Given the description of an element on the screen output the (x, y) to click on. 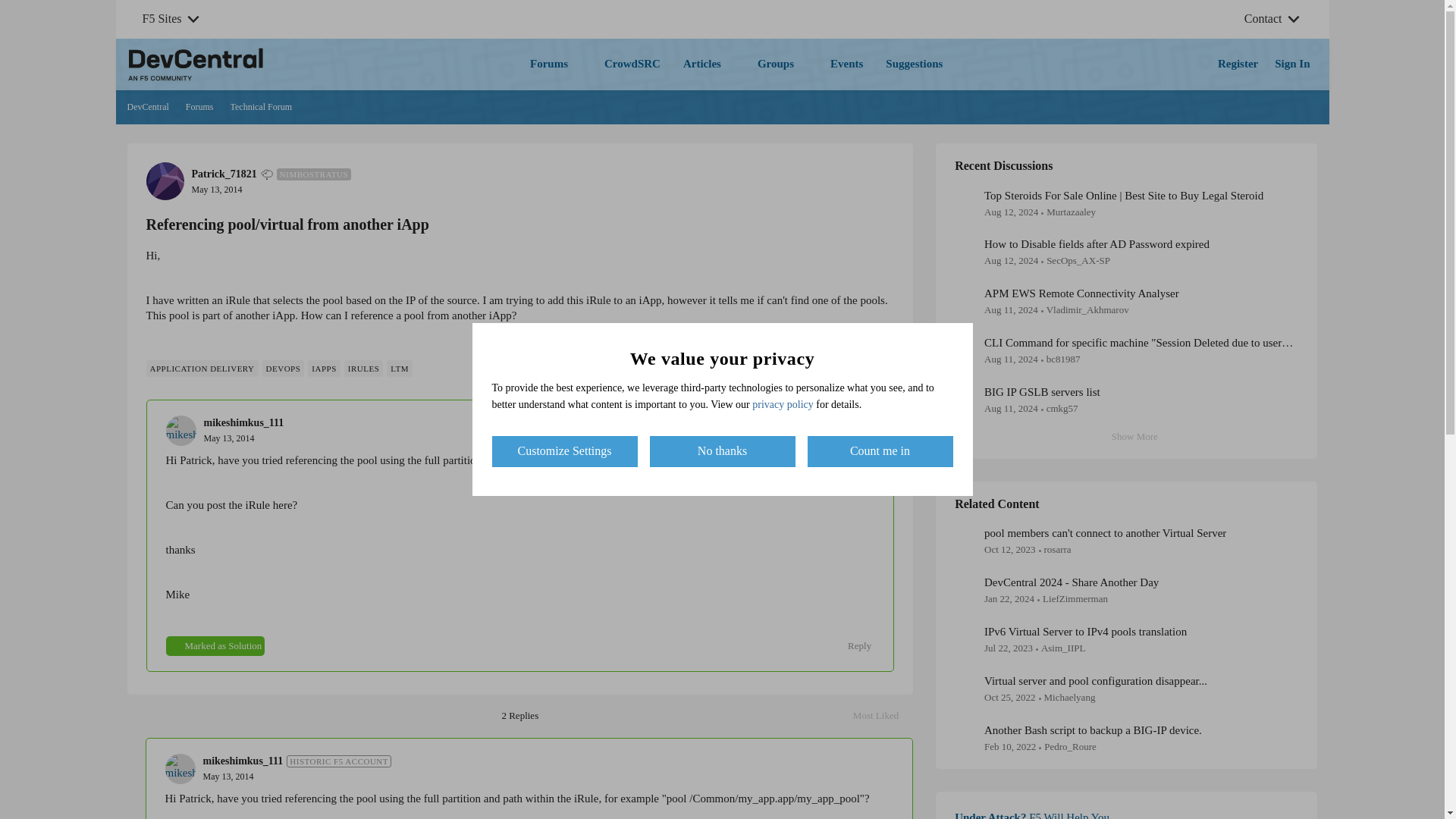
August 11, 2024 at 5:11 PM (1011, 260)
August 11, 2024 at 7:45 AM (1011, 408)
August 11, 2024 at 3:56 PM (1011, 309)
Like (800, 366)
August 11, 2024 at 3:29 PM (1011, 358)
F5 Sites (162, 19)
LTM (399, 368)
Suggestions (913, 63)
IAPPS (323, 368)
DevCentral 2024 - Share Another Day (1071, 581)
